Given the description of an element on the screen output the (x, y) to click on. 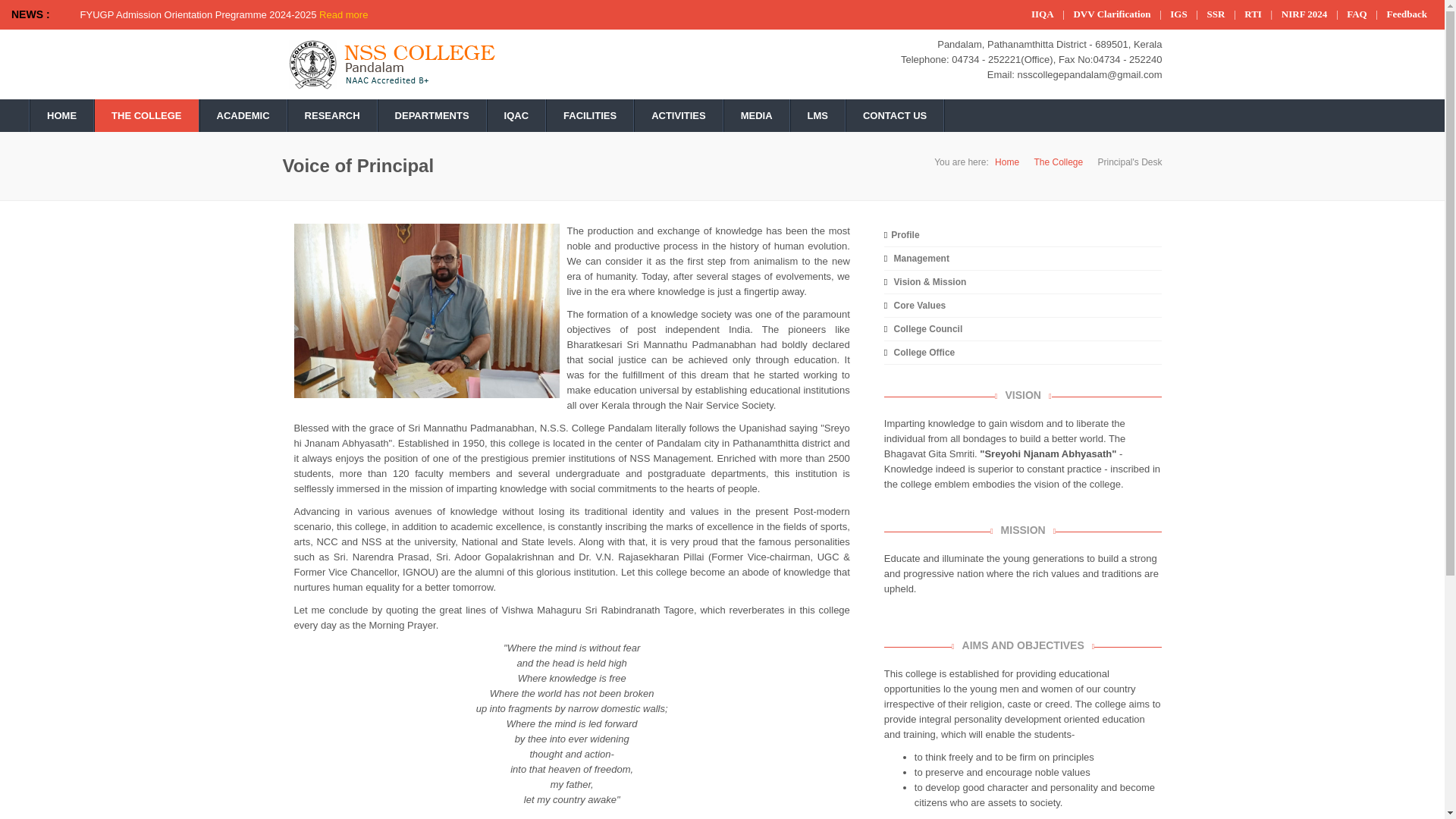
RTI (1253, 13)
SSR (1216, 13)
NIRF 2024 (1304, 13)
THE COLLEGE (146, 115)
IGS (1178, 13)
Read more (343, 14)
Feedback (1406, 13)
ACADEMIC (243, 115)
DVV Clarification (1111, 13)
FAQ (1356, 13)
